Given the description of an element on the screen output the (x, y) to click on. 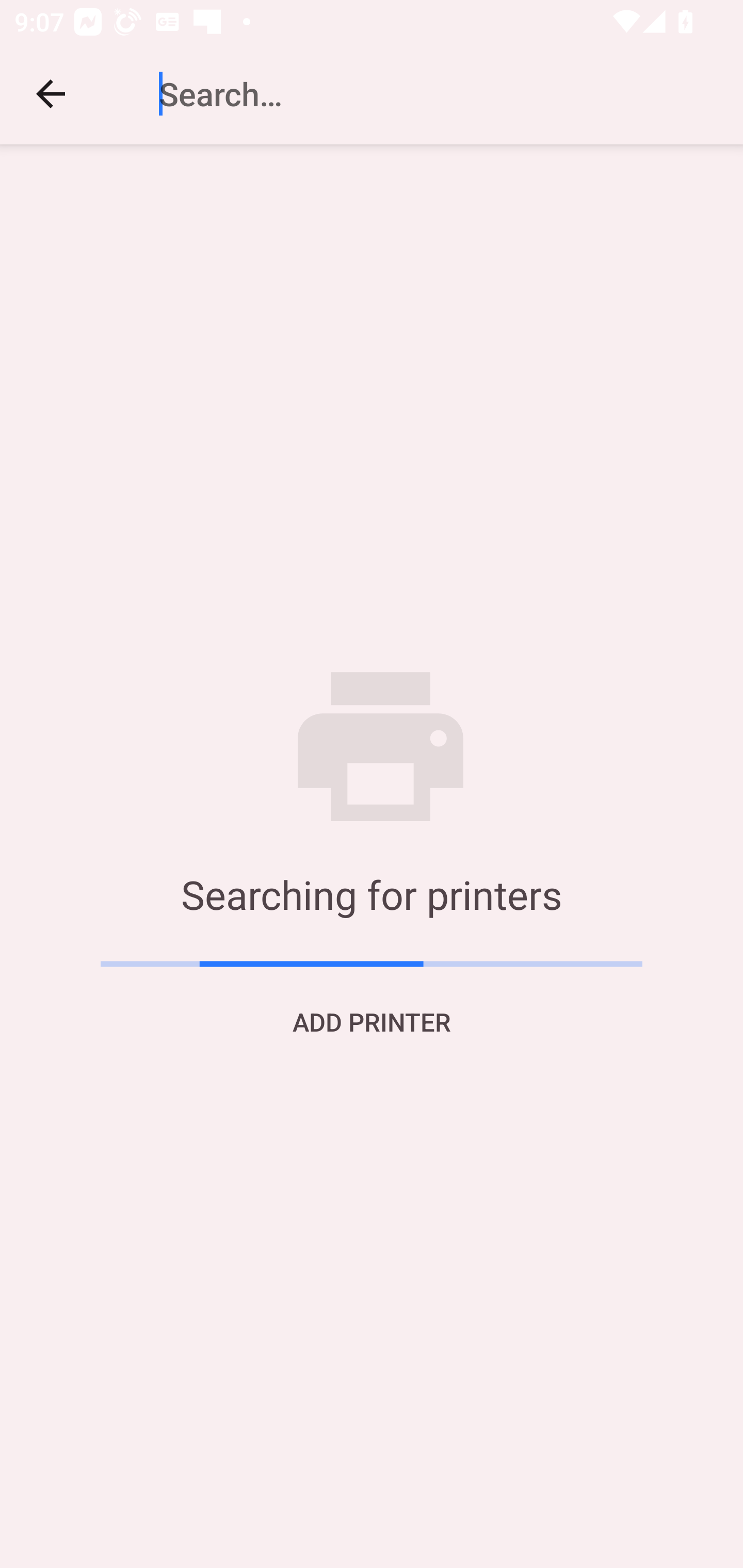
Collapse (50, 93)
Search… (418, 94)
ADD PRINTER (371, 1021)
